Given the description of an element on the screen output the (x, y) to click on. 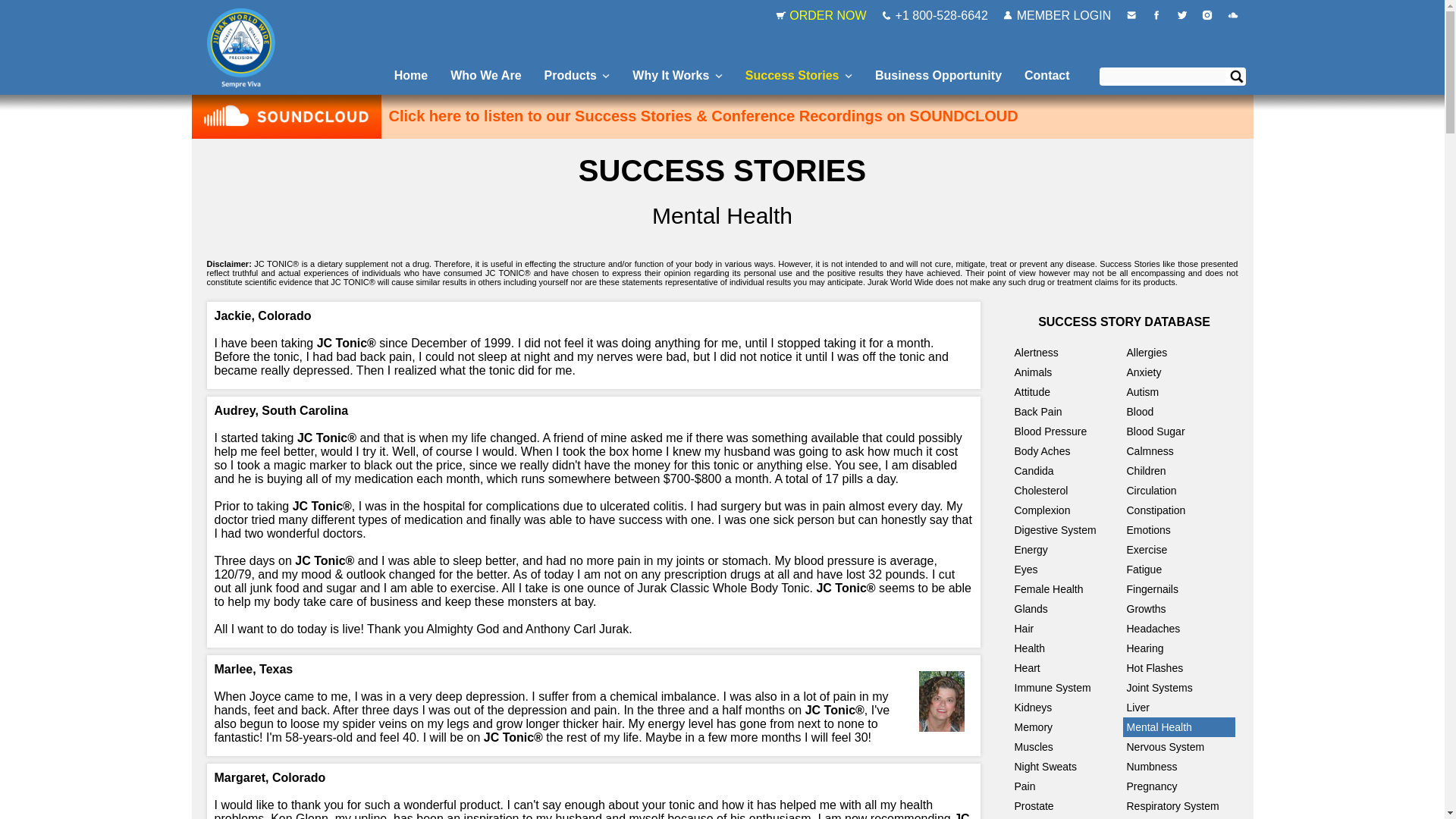
ORDER NOW (823, 15)
MEMBER LOGIN (1058, 15)
